Given the description of an element on the screen output the (x, y) to click on. 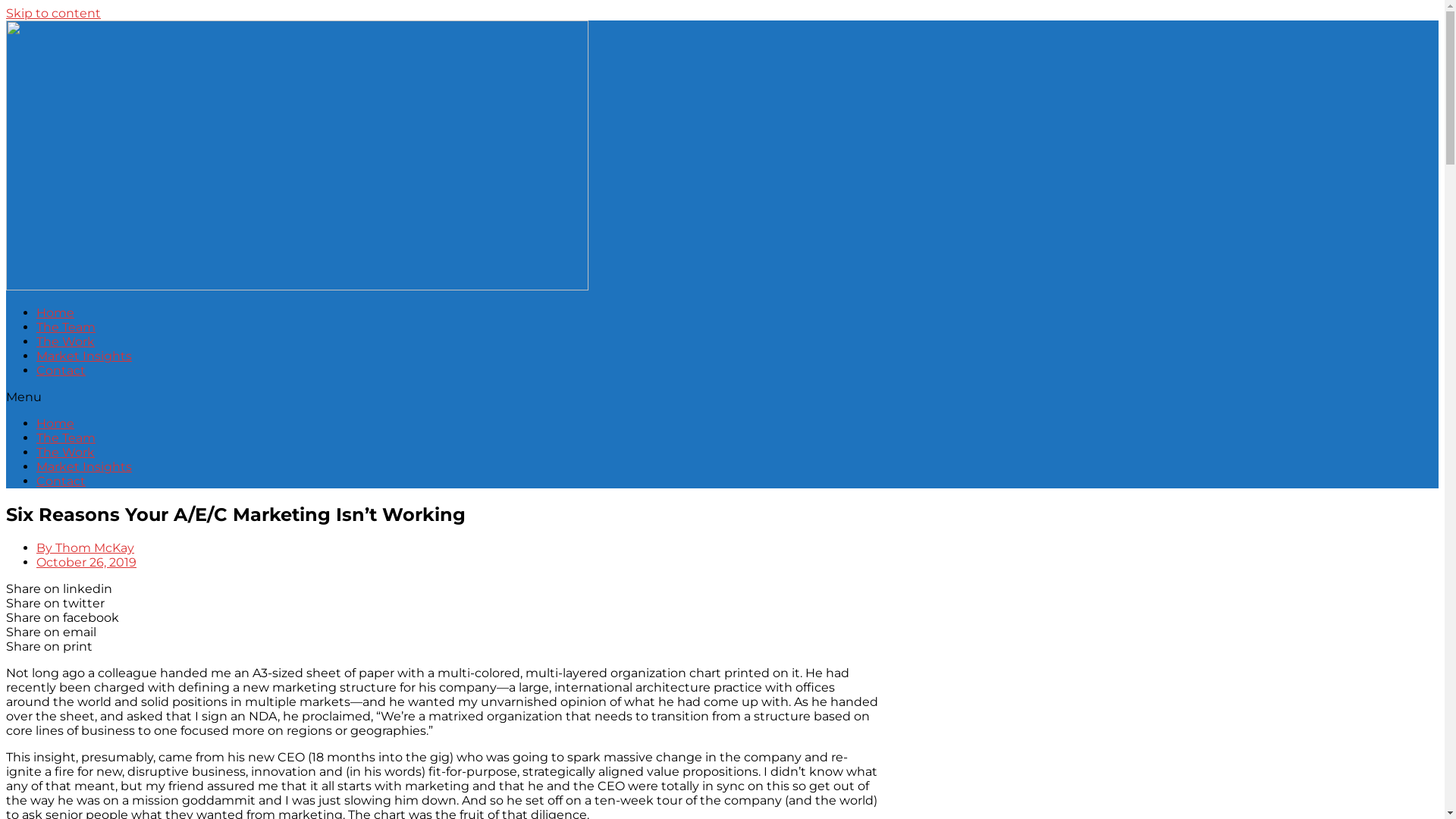
The Team Element type: text (65, 327)
Home Element type: text (55, 423)
October 26, 2019 Element type: text (86, 562)
Skip to content Element type: text (53, 13)
The Work Element type: text (65, 452)
By Thom McKay Element type: text (85, 547)
Contact Element type: text (60, 370)
Market Insights Element type: text (83, 466)
The Team Element type: text (65, 437)
Market Insights Element type: text (83, 355)
Contact Element type: text (60, 480)
Home Element type: text (55, 312)
The Work Element type: text (65, 341)
